Given the description of an element on the screen output the (x, y) to click on. 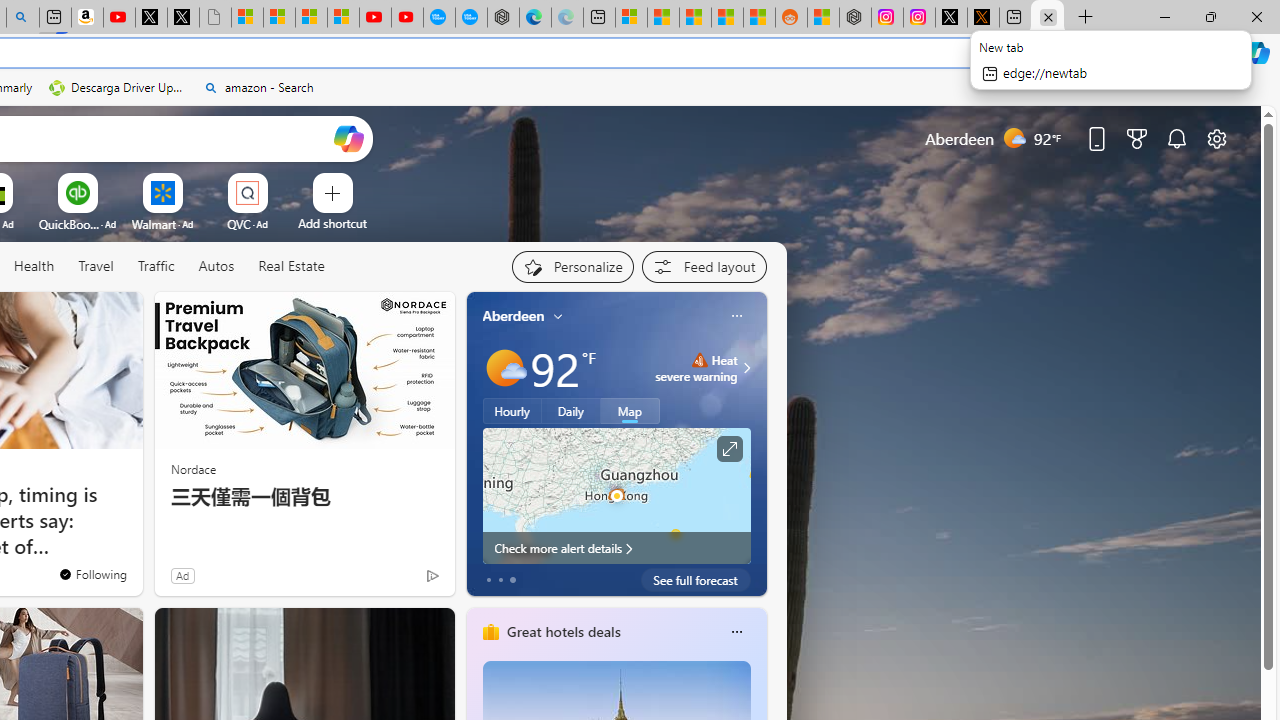
The most popular Google 'how to' searches (471, 17)
Feed settings (703, 266)
Page settings (1216, 138)
Traffic (155, 267)
tab-2 (511, 579)
Travel (95, 267)
Heat - Severe (699, 359)
